Given the description of an element on the screen output the (x, y) to click on. 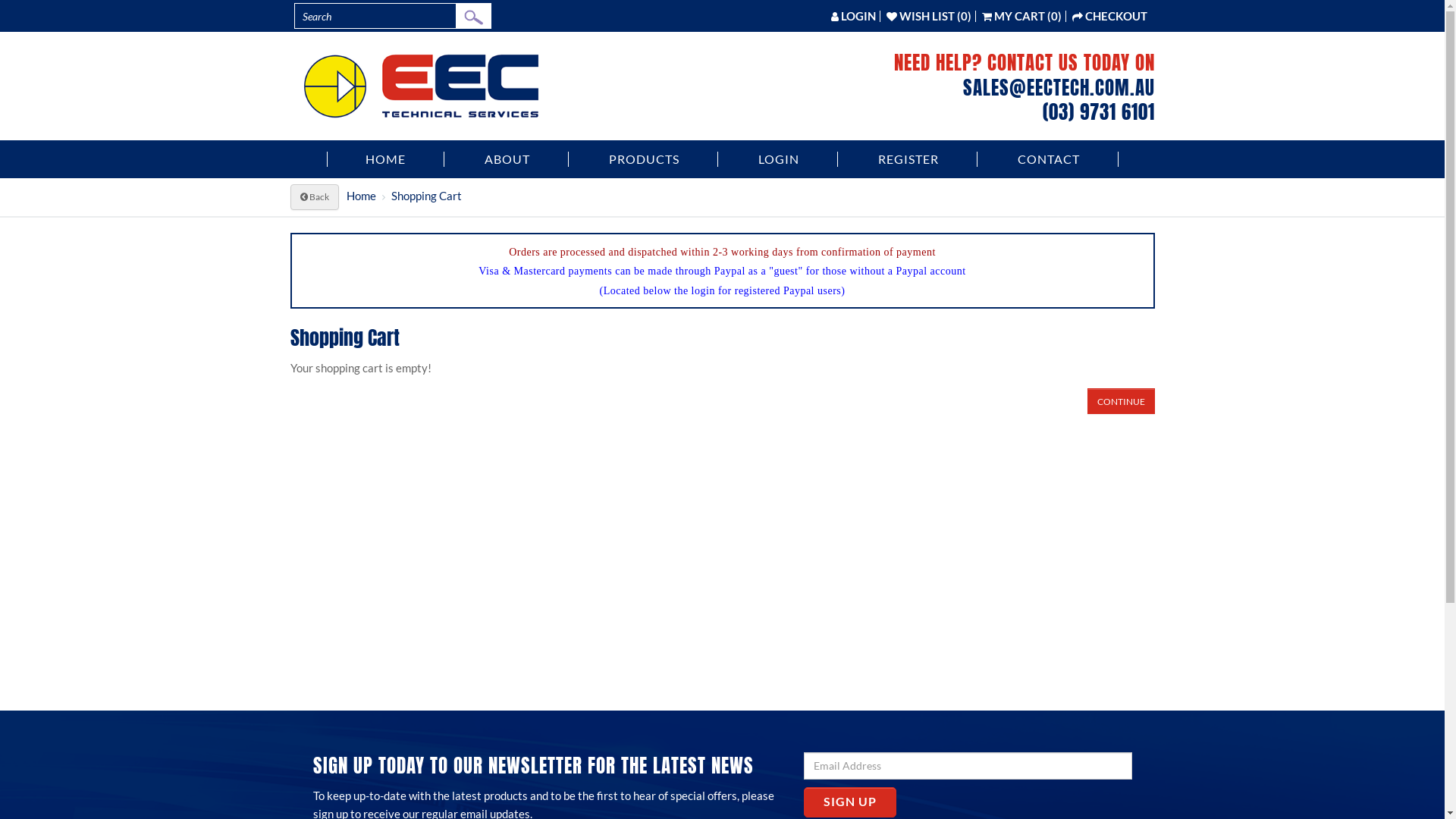
REGISTER Element type: text (908, 158)
Home Element type: text (360, 195)
SALES@EECTECH.COM.AU Element type: text (1058, 86)
LOGIN Element type: text (778, 158)
EEC TECHNICAL SERVICES Element type: hover (422, 85)
CONTINUE Element type: text (1120, 401)
SIGN UP Element type: text (849, 802)
PRODUCTS Element type: text (643, 158)
HOME Element type: text (384, 158)
Back Element type: text (313, 197)
MY CART (0) Element type: text (1020, 15)
ABOUT Element type: text (506, 158)
CONTACT Element type: text (1048, 158)
WISH LIST (0) Element type: text (927, 15)
(03) 9731 6101 Element type: text (1097, 111)
Shopping Cart Element type: text (426, 195)
LOGIN Element type: text (853, 15)
CHECKOUT Element type: text (1109, 15)
